Given the description of an element on the screen output the (x, y) to click on. 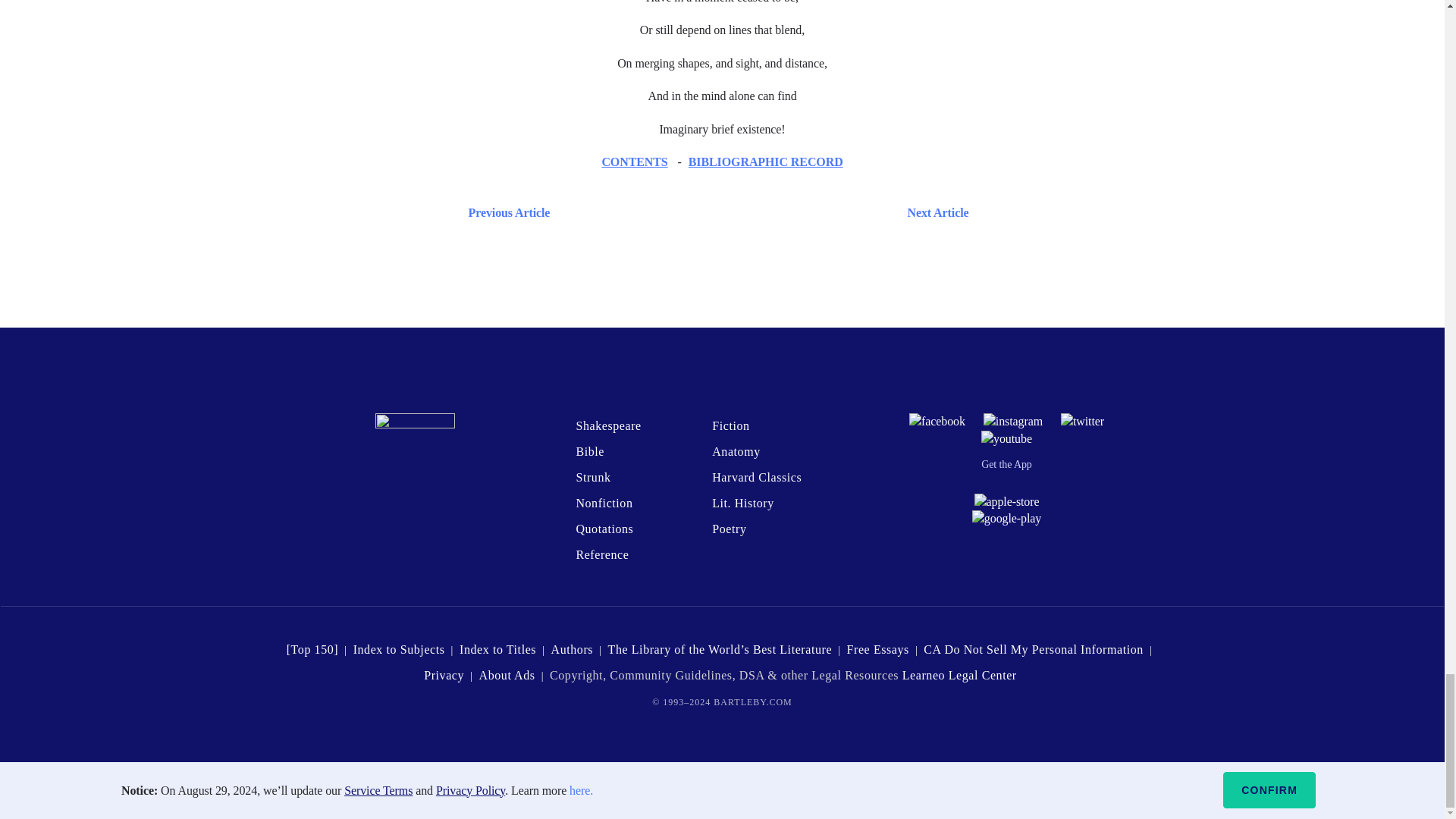
Shakespeare (607, 425)
Poetry (728, 528)
Nonfiction (603, 502)
Previous Article (505, 212)
Bible (589, 451)
BIBLIOGRAPHIC RECORD (765, 161)
Fiction (730, 425)
CONTENTS (633, 161)
Quotations (604, 528)
Reference (601, 554)
Lit. History (742, 502)
Strunk (592, 477)
Harvard Classics (756, 477)
Anatomy (735, 451)
Next Article (766, 212)
